Given the description of an element on the screen output the (x, y) to click on. 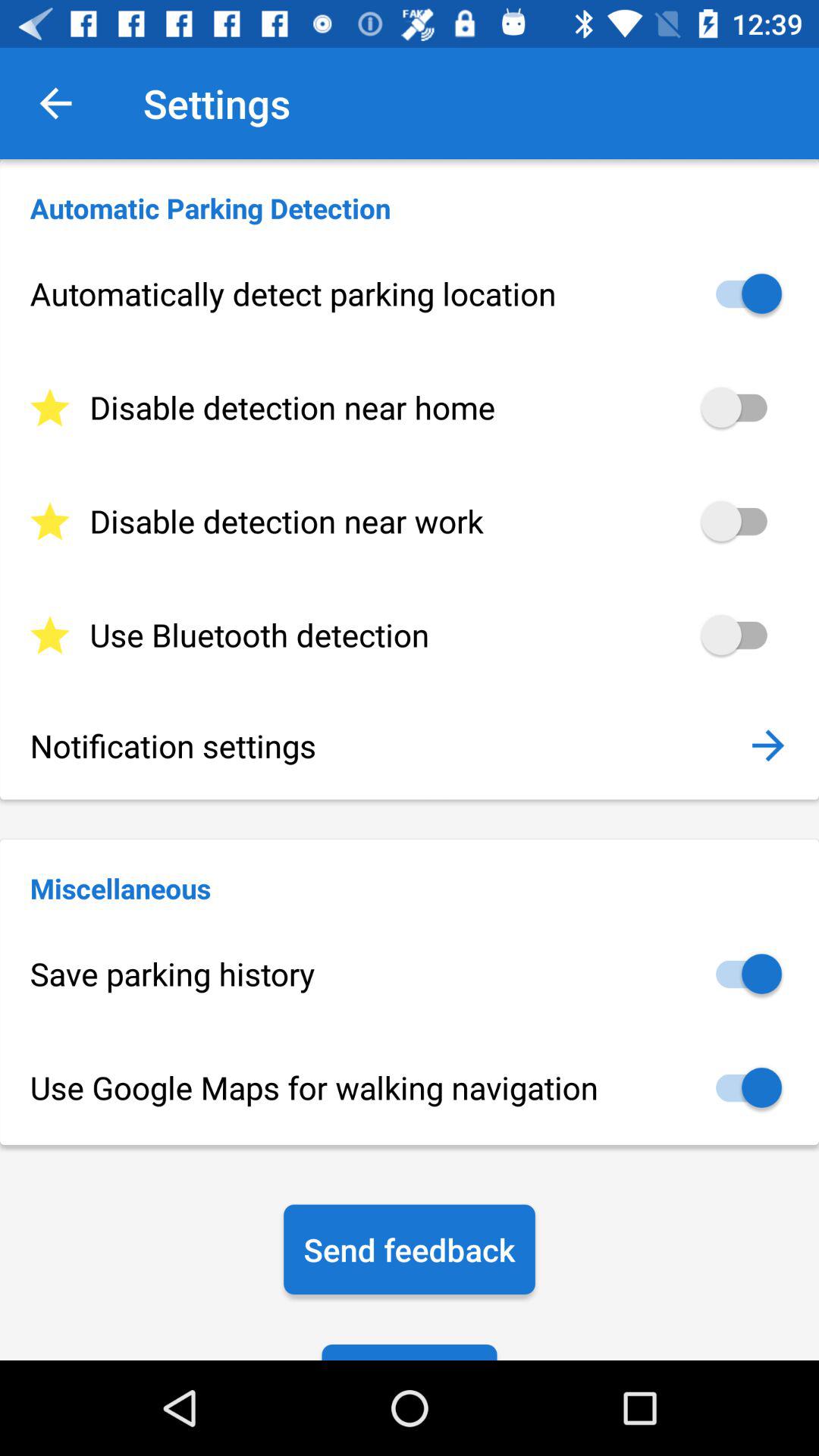
tap the icon to the left of the settings item (55, 103)
